Given the description of an element on the screen output the (x, y) to click on. 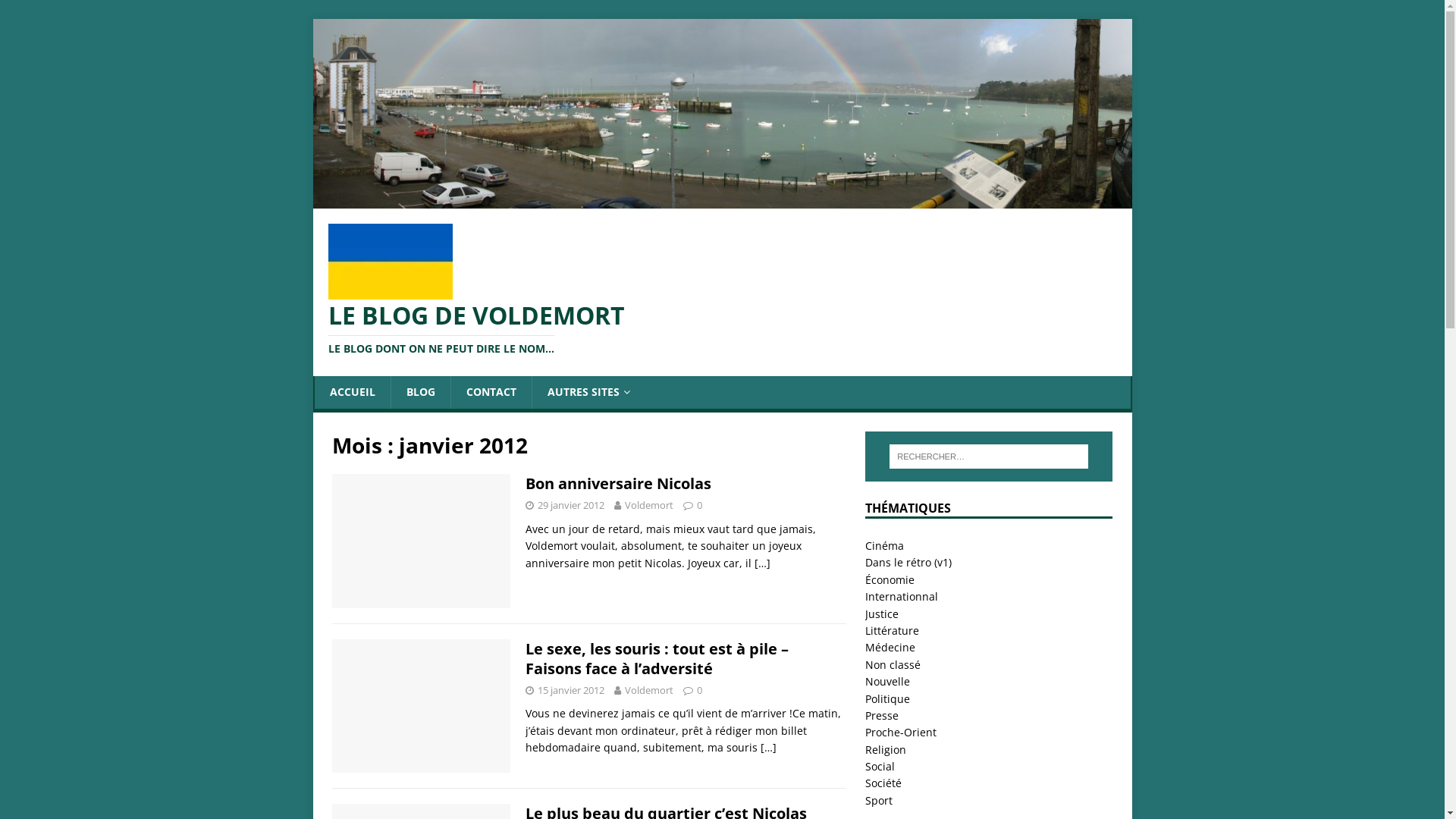
Religion Element type: text (885, 749)
Presse Element type: text (881, 715)
Social Element type: text (879, 766)
0 Element type: text (698, 504)
CONTACT Element type: text (490, 391)
Le blog de Voldemort Element type: hover (721, 198)
0 Element type: text (698, 689)
AUTRES SITES Element type: text (587, 391)
Voldemort Element type: text (648, 689)
Voldemort Element type: text (648, 504)
Bon anniversaire Nicolas Element type: text (617, 483)
Sport Element type: text (878, 800)
BLOG Element type: text (419, 391)
Politique Element type: text (887, 698)
Nouvelle Element type: text (887, 681)
Justice Element type: text (881, 613)
ACCUEIL Element type: text (351, 391)
Internationnal Element type: text (901, 596)
Proche-Orient Element type: text (900, 731)
LE BLOG DE VOLDEMORT
LE BLOG DONT ON NE PEUT DIRE LE NOM... Element type: text (721, 329)
Rechercher Element type: text (56, 11)
